Given the description of an element on the screen output the (x, y) to click on. 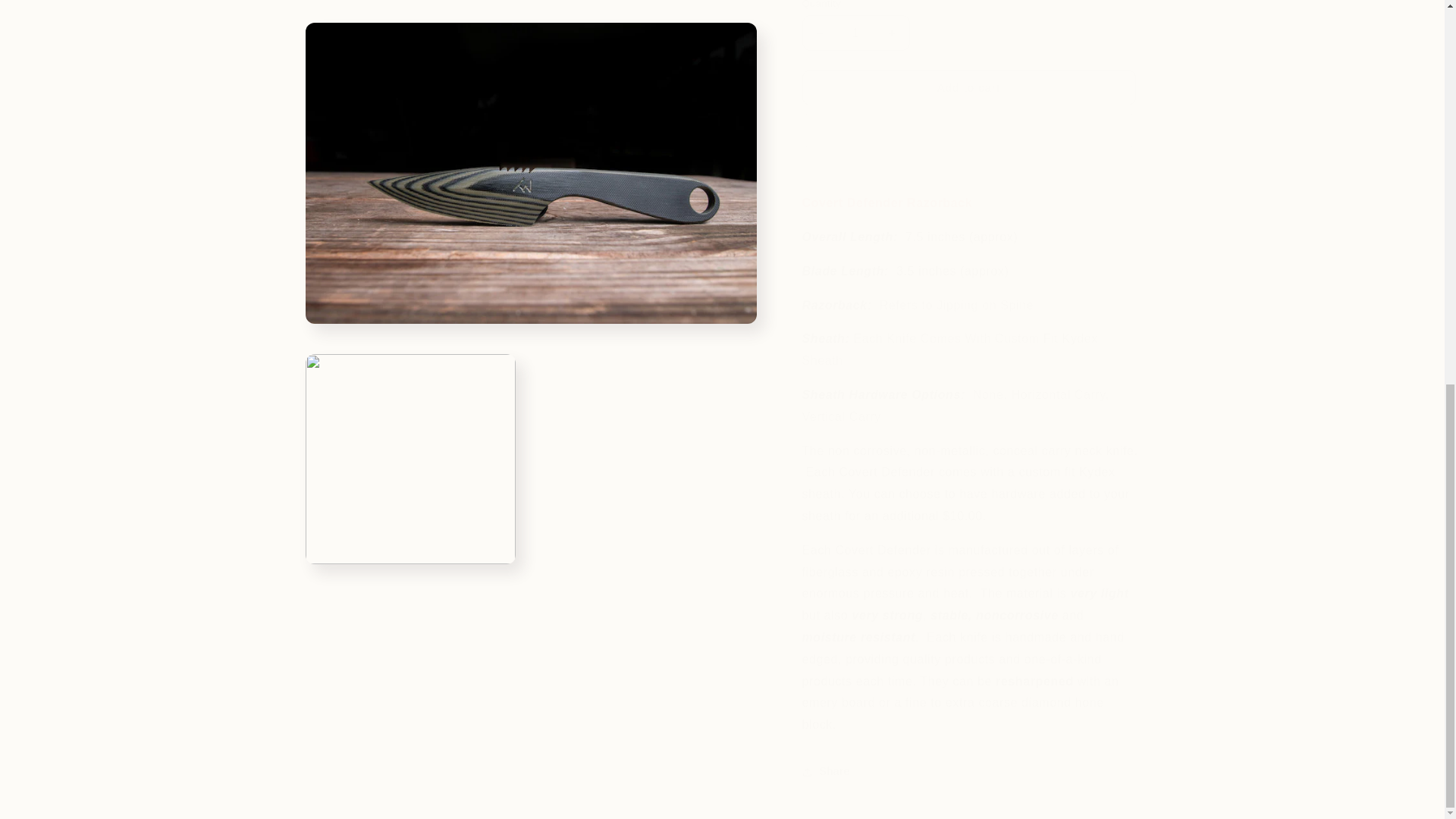
Add to cart (968, 76)
1 (856, 21)
